Given the description of an element on the screen output the (x, y) to click on. 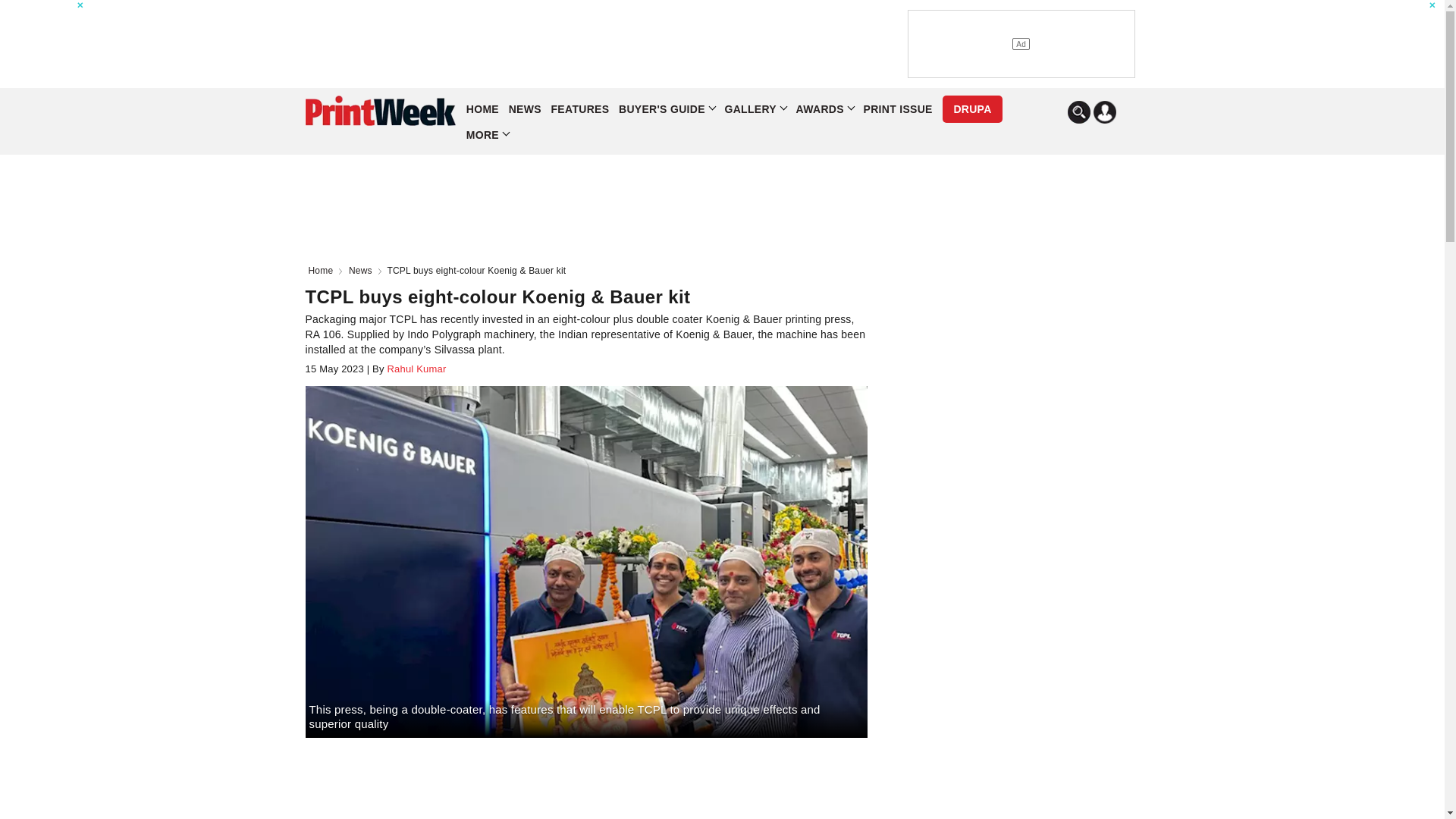
GALLERY (754, 109)
News (363, 270)
Search In PrintWeek India Website (1078, 111)
FEATURES (580, 109)
3rd party ad content (604, 43)
Rahul Kumar (415, 368)
Home (323, 270)
Buyer's Guide (666, 109)
PRINT ISSUE (897, 109)
HOME (482, 109)
DRUPA (971, 108)
Print Issue (897, 109)
Drupa (971, 108)
MORE (487, 134)
NEWS (524, 109)
